Given the description of an element on the screen output the (x, y) to click on. 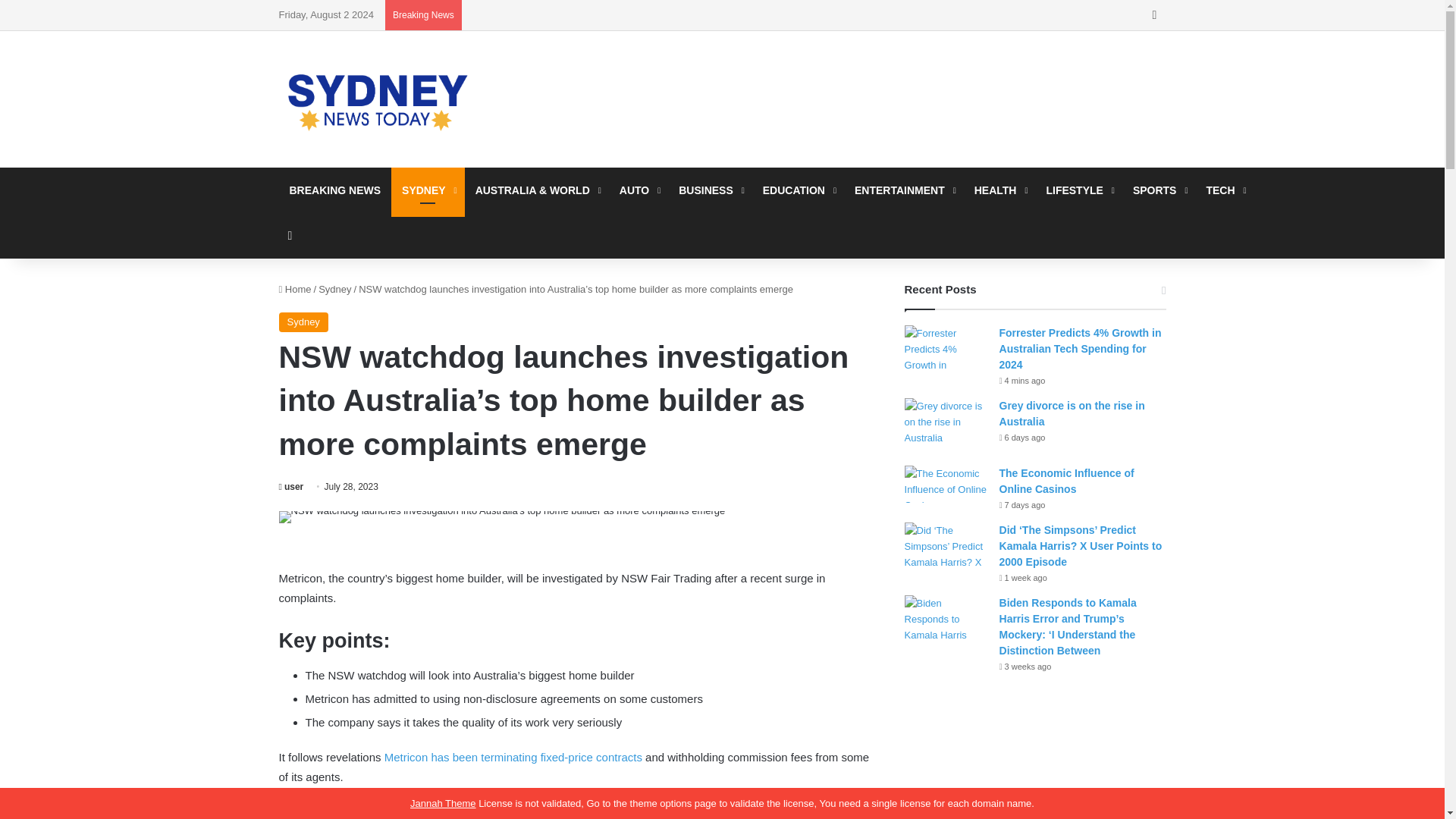
LIFESTYLE (1078, 189)
TECH (1224, 189)
Metricon has been terminating fixed-price contracts (513, 757)
BREAKING NEWS (335, 189)
AUTO (638, 189)
BUSINESS (710, 189)
ENTERTAINMENT (903, 189)
HEALTH (999, 189)
Sydney (334, 288)
SPORTS (1158, 189)
EDUCATION (798, 189)
Sydneynewstoday.com (377, 99)
Home (295, 288)
Jannah Theme (443, 803)
Sydney (304, 322)
